Given the description of an element on the screen output the (x, y) to click on. 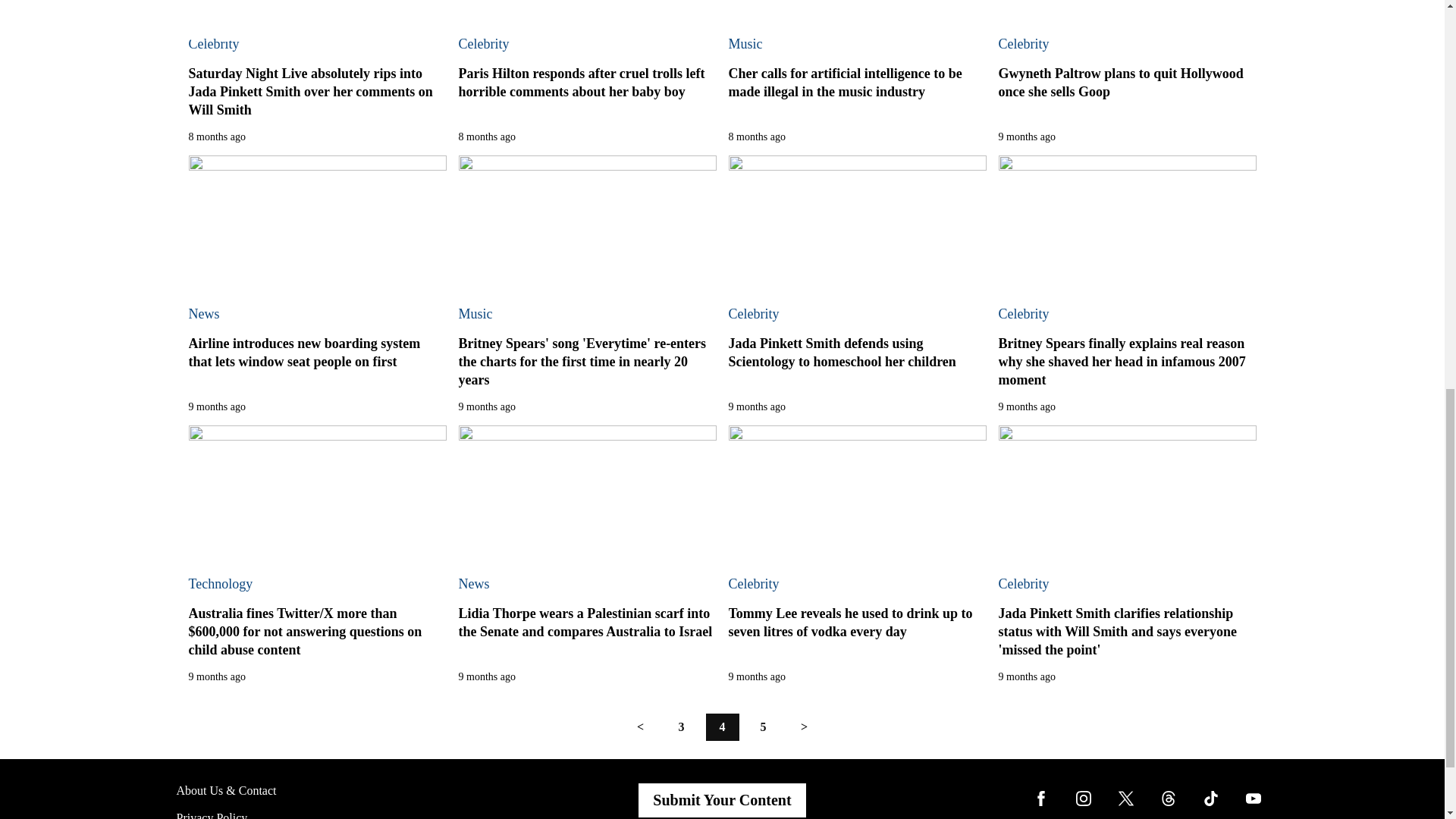
Celebrity (483, 44)
Celebrity (212, 44)
